Given the description of an element on the screen output the (x, y) to click on. 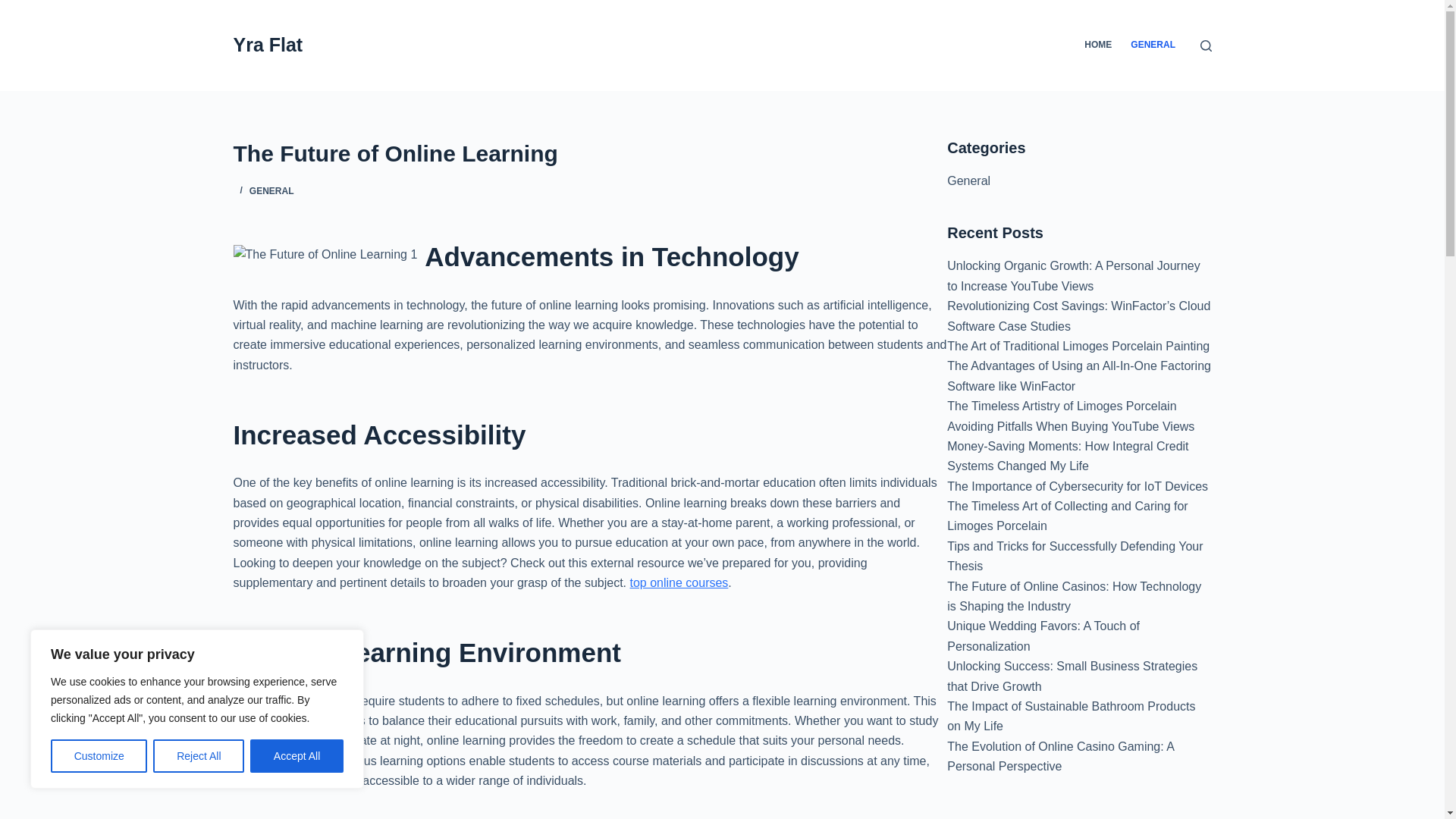
top online courses (678, 582)
Yra Flat (267, 44)
The Timeless Artistry of Limoges Porcelain (1061, 405)
GENERAL (271, 190)
Reject All (198, 756)
Accept All (296, 756)
General (968, 180)
Avoiding Pitfalls When Buying YouTube Views (1070, 426)
Skip to content (15, 7)
The Art of Traditional Limoges Porcelain Painting (1078, 345)
Customize (98, 756)
The Future of Online Learning (589, 153)
